Given the description of an element on the screen output the (x, y) to click on. 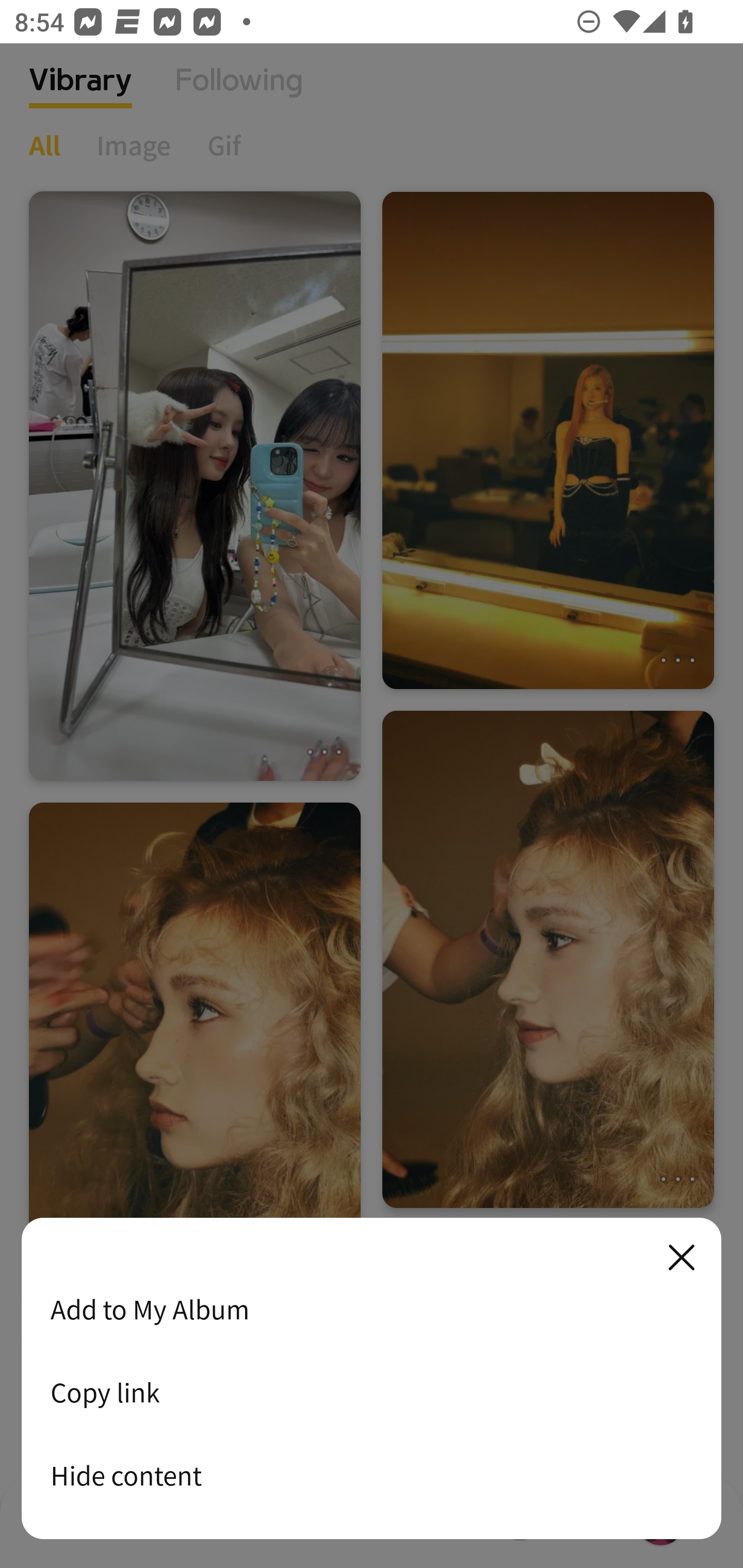
Add to My Album Copy link Hide content (371, 1378)
Add to My Album (371, 1308)
Copy link (371, 1391)
Hide content (371, 1474)
